Given the description of an element on the screen output the (x, y) to click on. 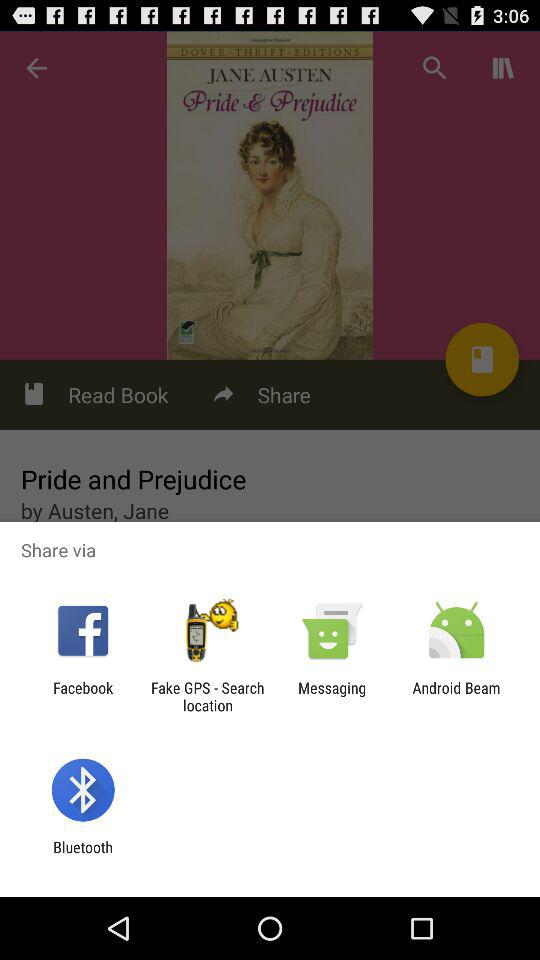
click facebook item (83, 696)
